Given the description of an element on the screen output the (x, y) to click on. 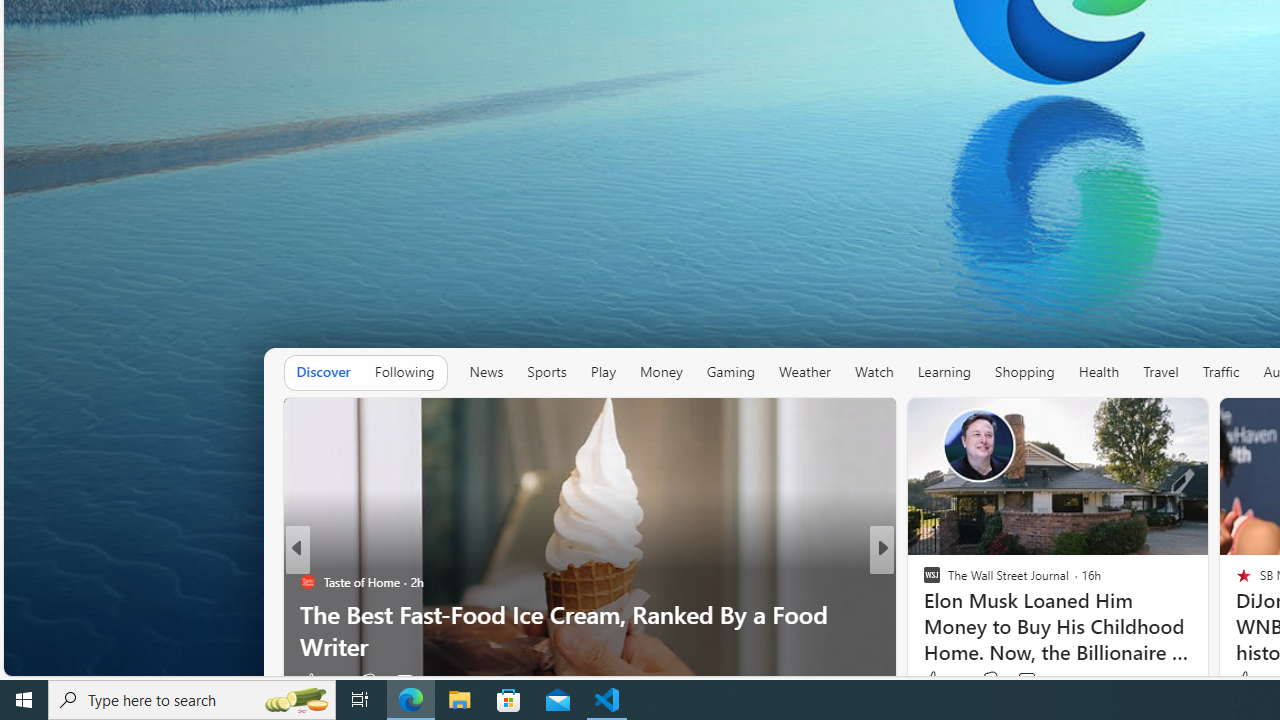
View comments 5 Comment (1026, 681)
ZDNet (923, 581)
Money (660, 371)
View comments 29 Comment (407, 681)
View comments 29 Comment (398, 681)
MUO (923, 581)
Moneywise (923, 581)
264 Like (942, 680)
View comments 65 Comment (1019, 681)
House Digest (923, 581)
Start the conversation (1014, 681)
Watch (874, 372)
Learning (944, 372)
514 Like (936, 681)
